Given the description of an element on the screen output the (x, y) to click on. 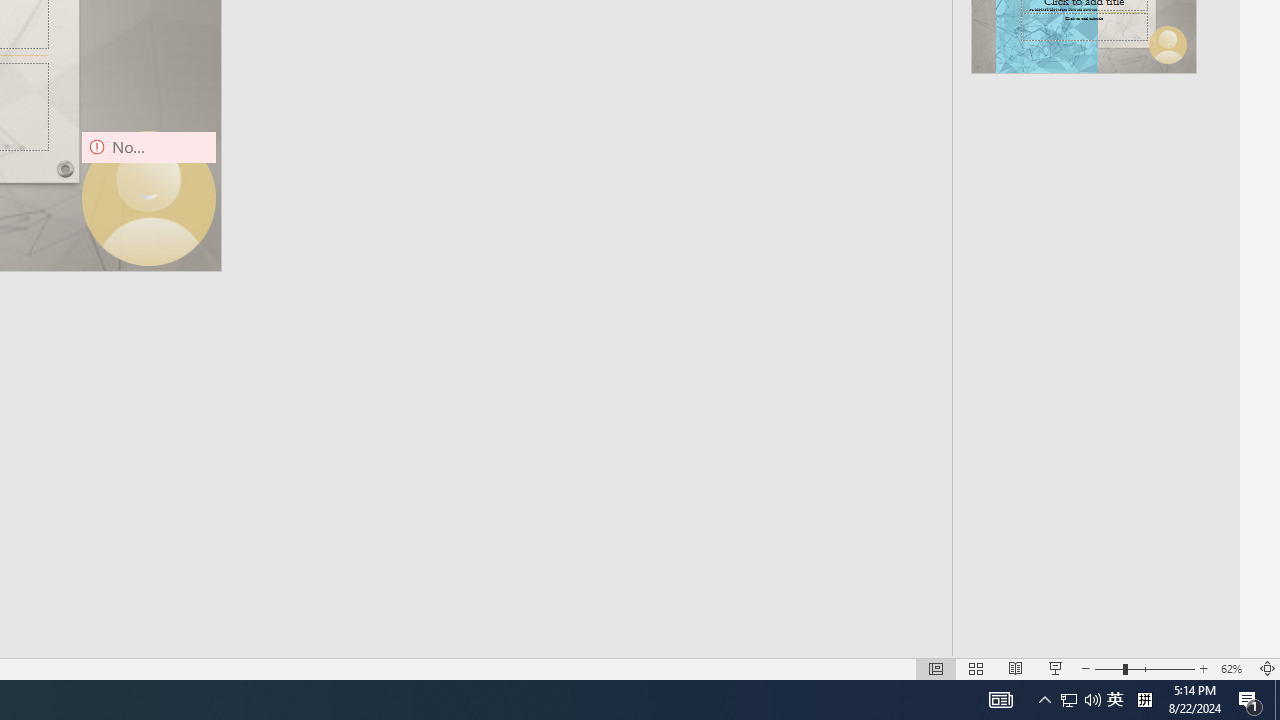
Zoom 62% (1234, 668)
